Given the description of an element on the screen output the (x, y) to click on. 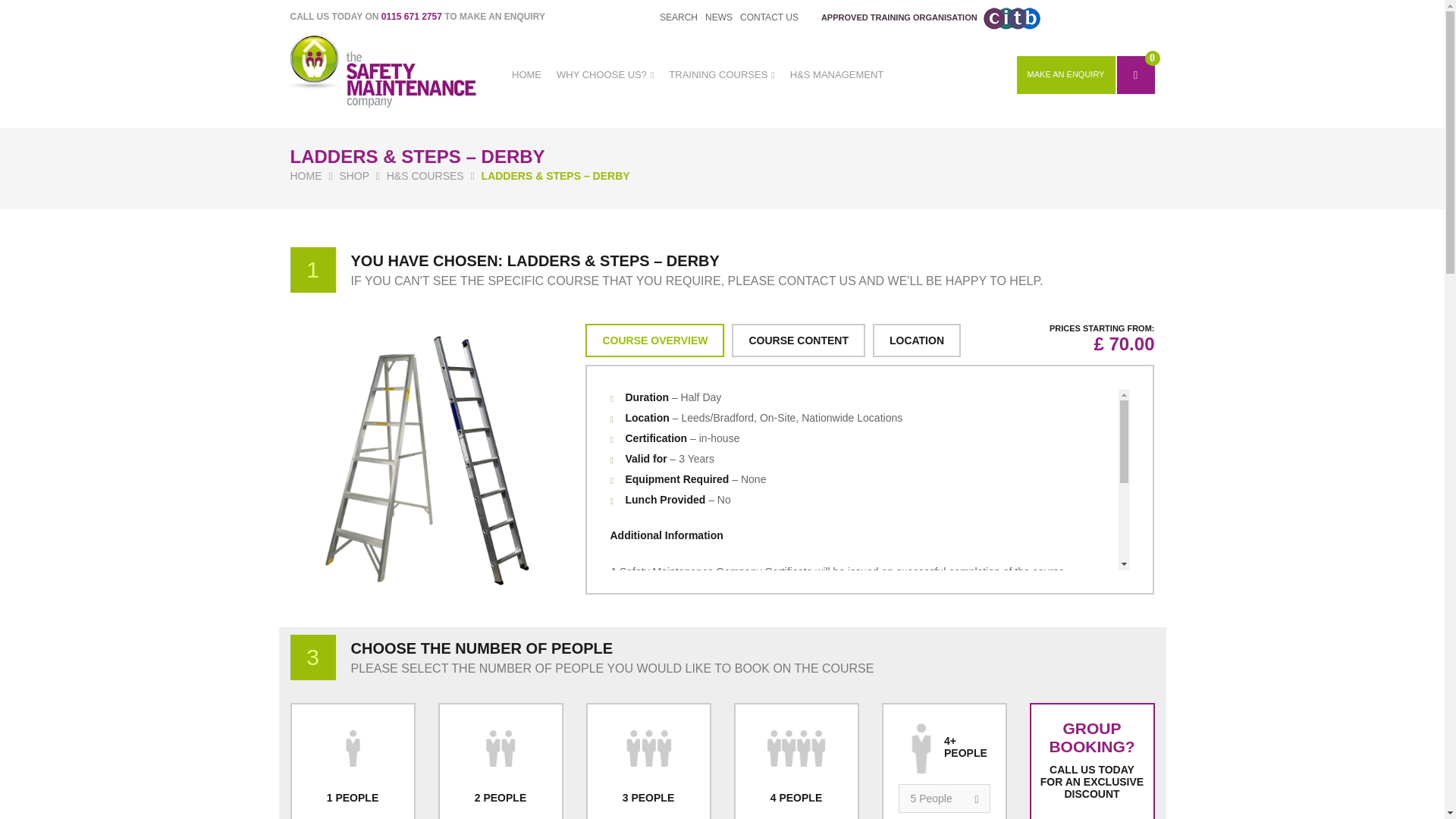
HOME (526, 74)
TRAINING COURSES (721, 74)
MAKE AN ENQUIRY (1065, 75)
SEARCH (678, 17)
SHOP (353, 175)
CONTACT US (768, 17)
0115 671 2757 (411, 16)
HOME (305, 175)
0 (1135, 75)
NEWS (718, 17)
